Given the description of an element on the screen output the (x, y) to click on. 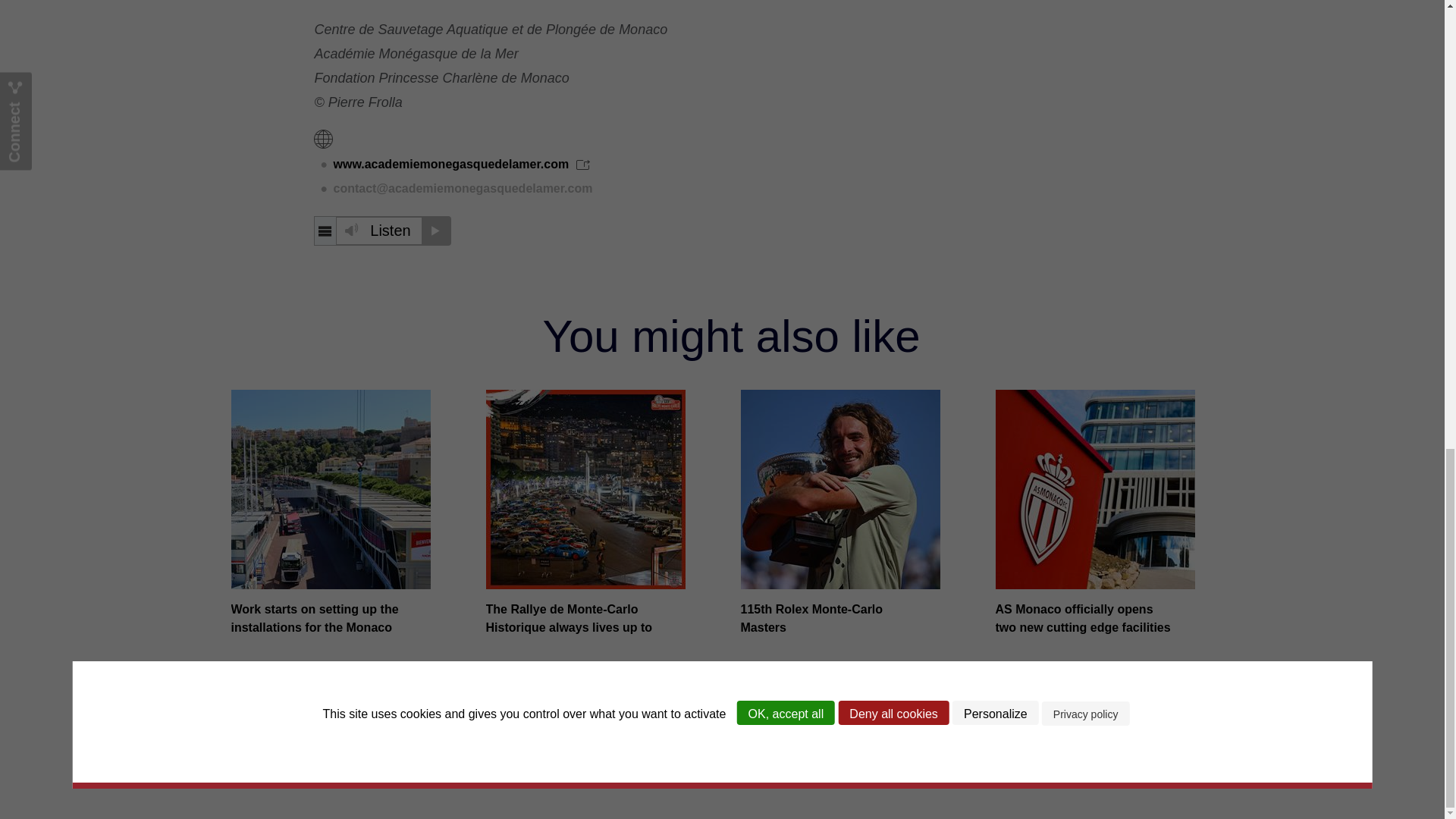
Listen with ReadSpeaker (381, 230)
